Given the description of an element on the screen output the (x, y) to click on. 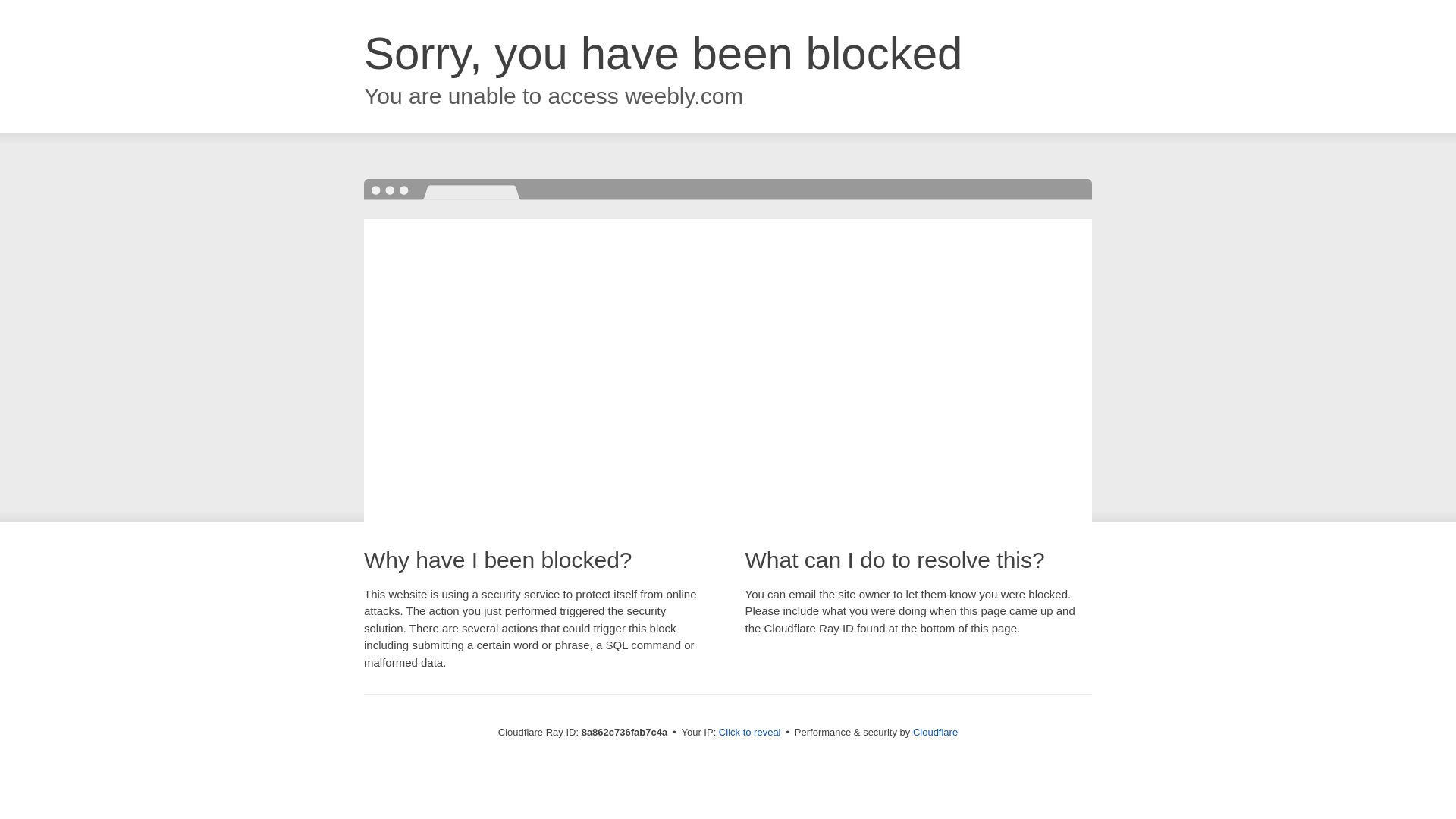
Click to reveal (749, 732)
Cloudflare (935, 731)
